Given the description of an element on the screen output the (x, y) to click on. 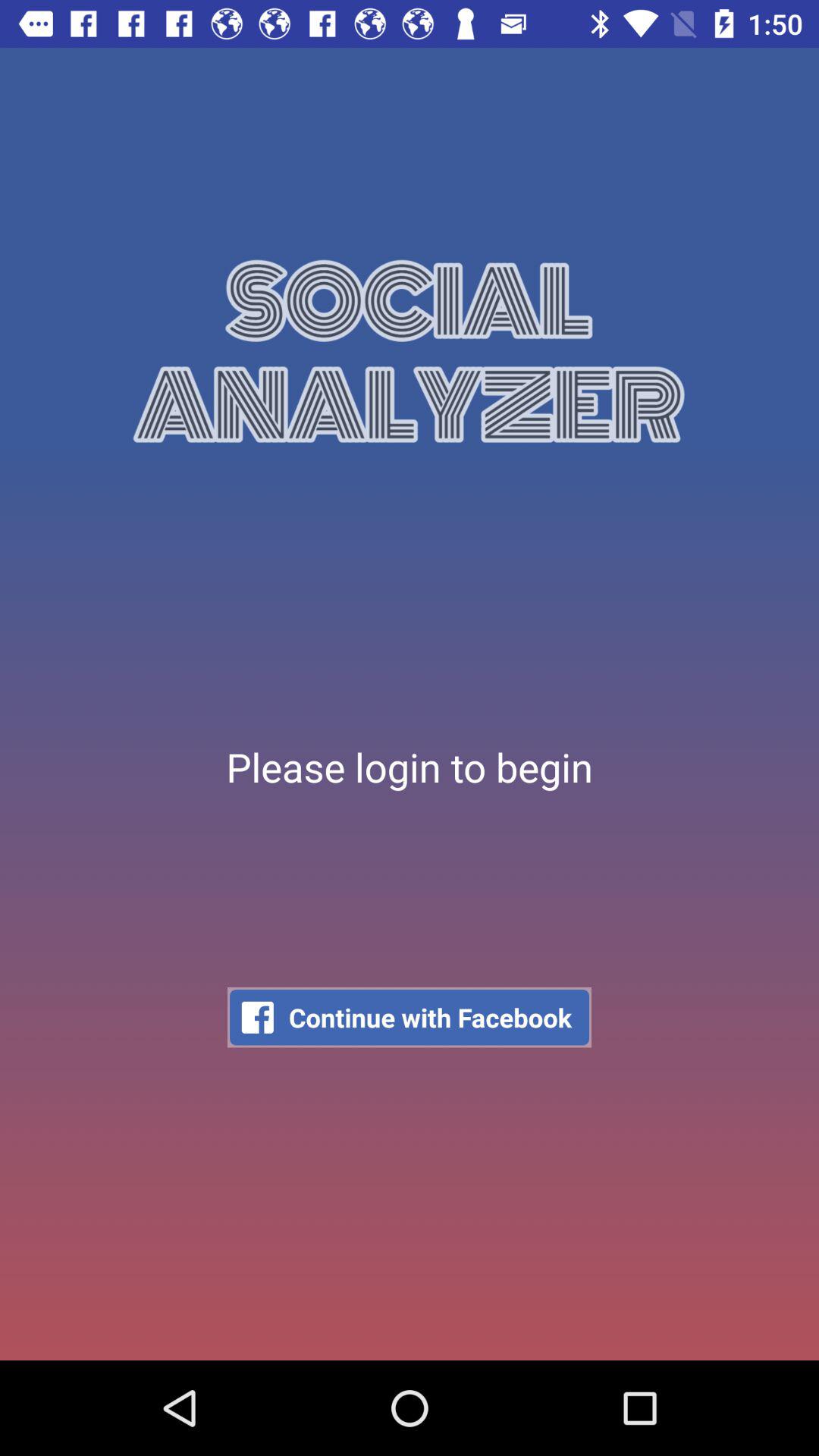
press item below please login to item (409, 1017)
